Given the description of an element on the screen output the (x, y) to click on. 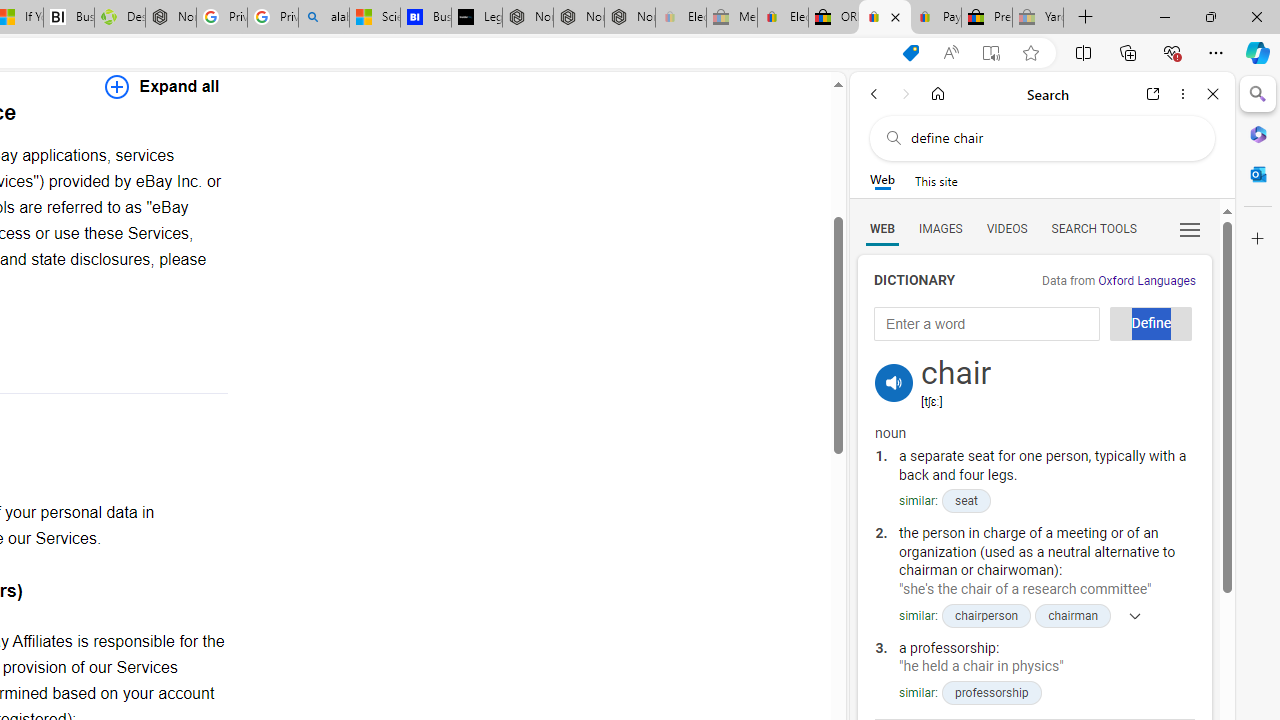
Link for logging (893, 359)
chairperson (985, 615)
Enter a word (987, 323)
